Given the description of an element on the screen output the (x, y) to click on. 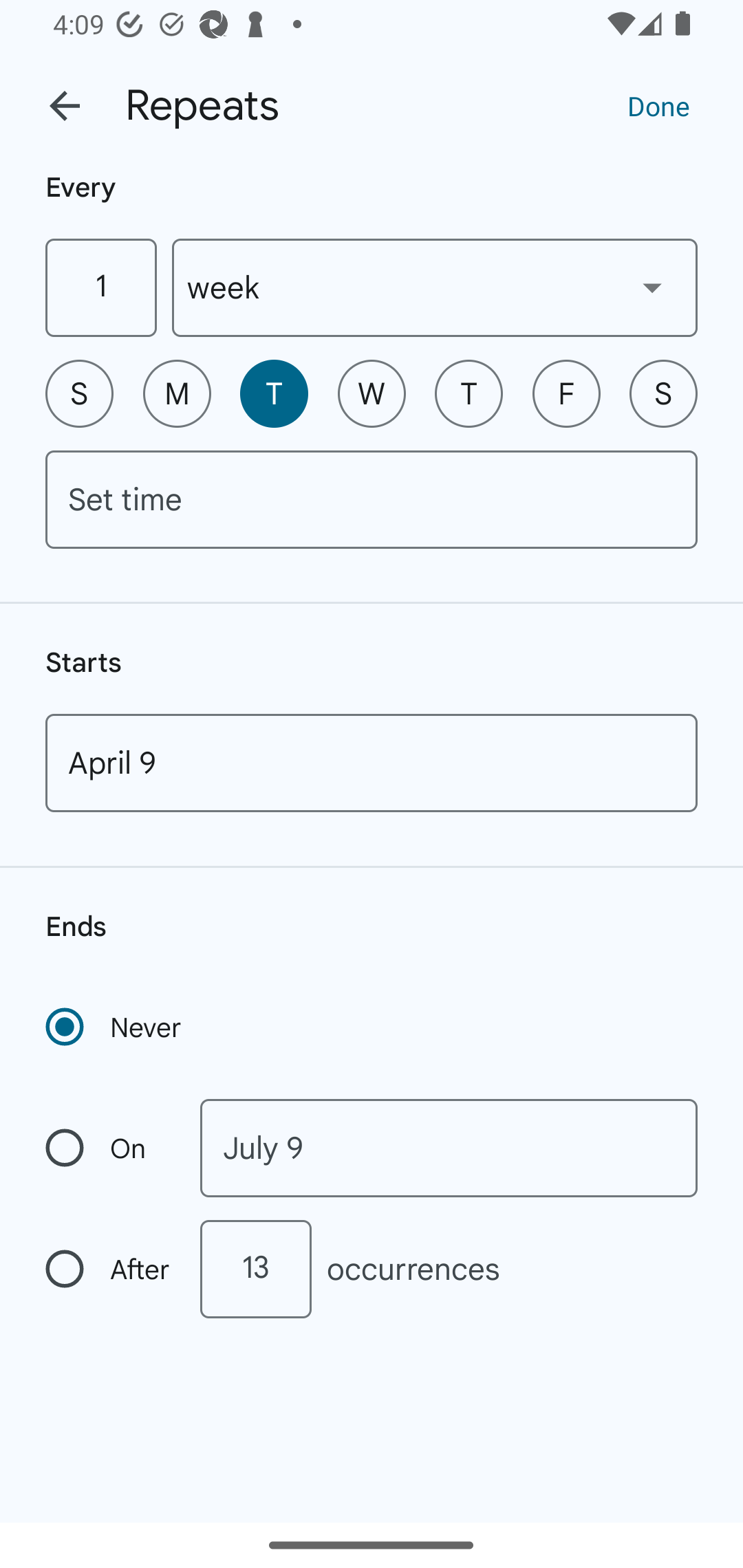
Back (64, 105)
Done (658, 105)
1 (100, 287)
week (434, 287)
Show dropdown menu (652, 286)
S Sunday (79, 393)
M Monday (177, 393)
T Tuesday, selected (273, 393)
W Wednesday (371, 393)
T Thursday (468, 393)
F Friday (566, 393)
S Saturday (663, 393)
Set time (371, 499)
April 9 (371, 762)
Never Recurrence never ends (115, 1026)
July 9 (448, 1148)
On Recurrence ends on a specific date (109, 1148)
13 (255, 1268)
